Given the description of an element on the screen output the (x, y) to click on. 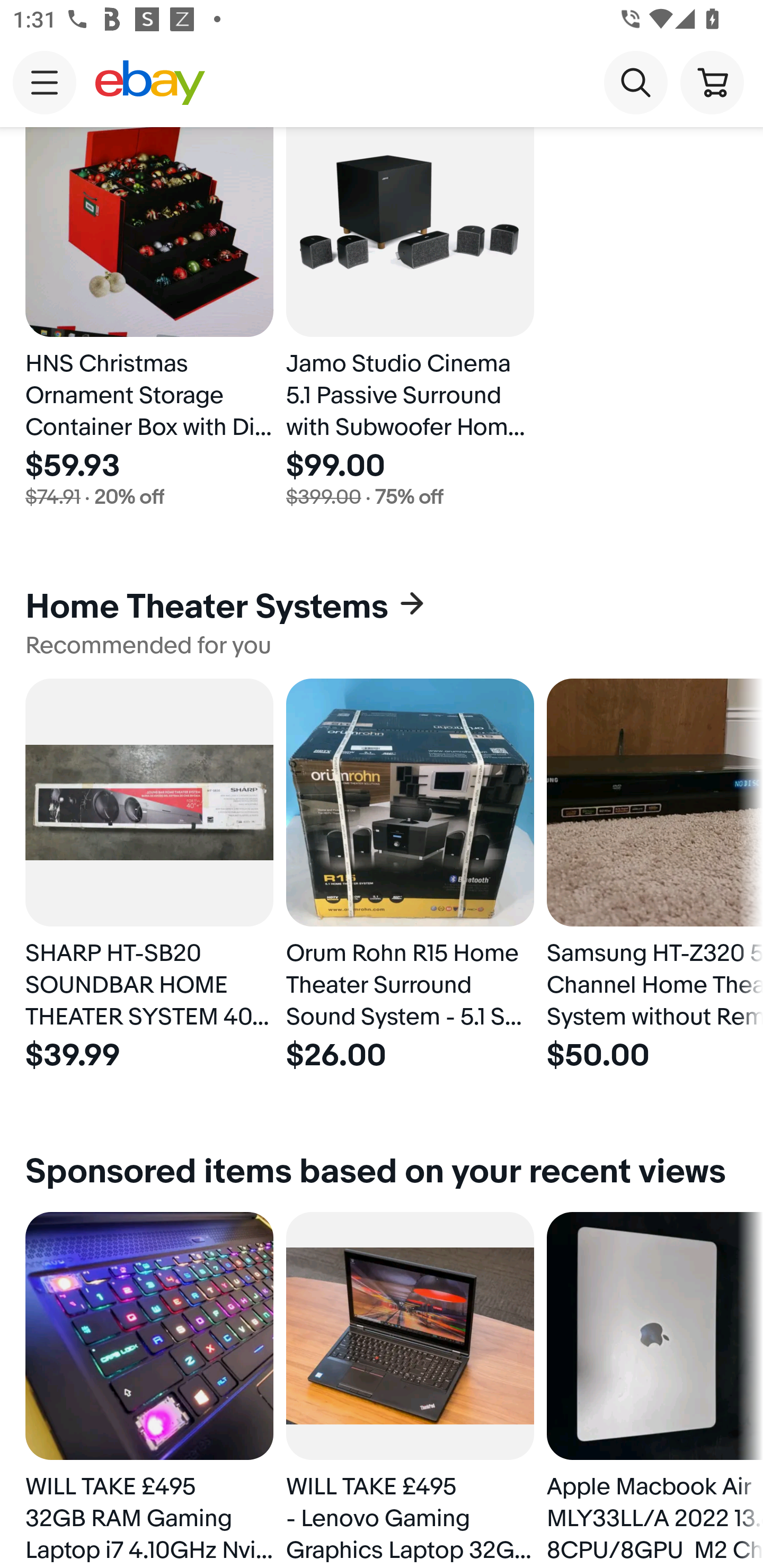
Main navigation, open (44, 82)
Search (635, 81)
Cart button shopping cart (711, 81)
Home Theater Systems   Recommended for you (381, 622)
Sponsored items based on your recent views (381, 1172)
